Given the description of an element on the screen output the (x, y) to click on. 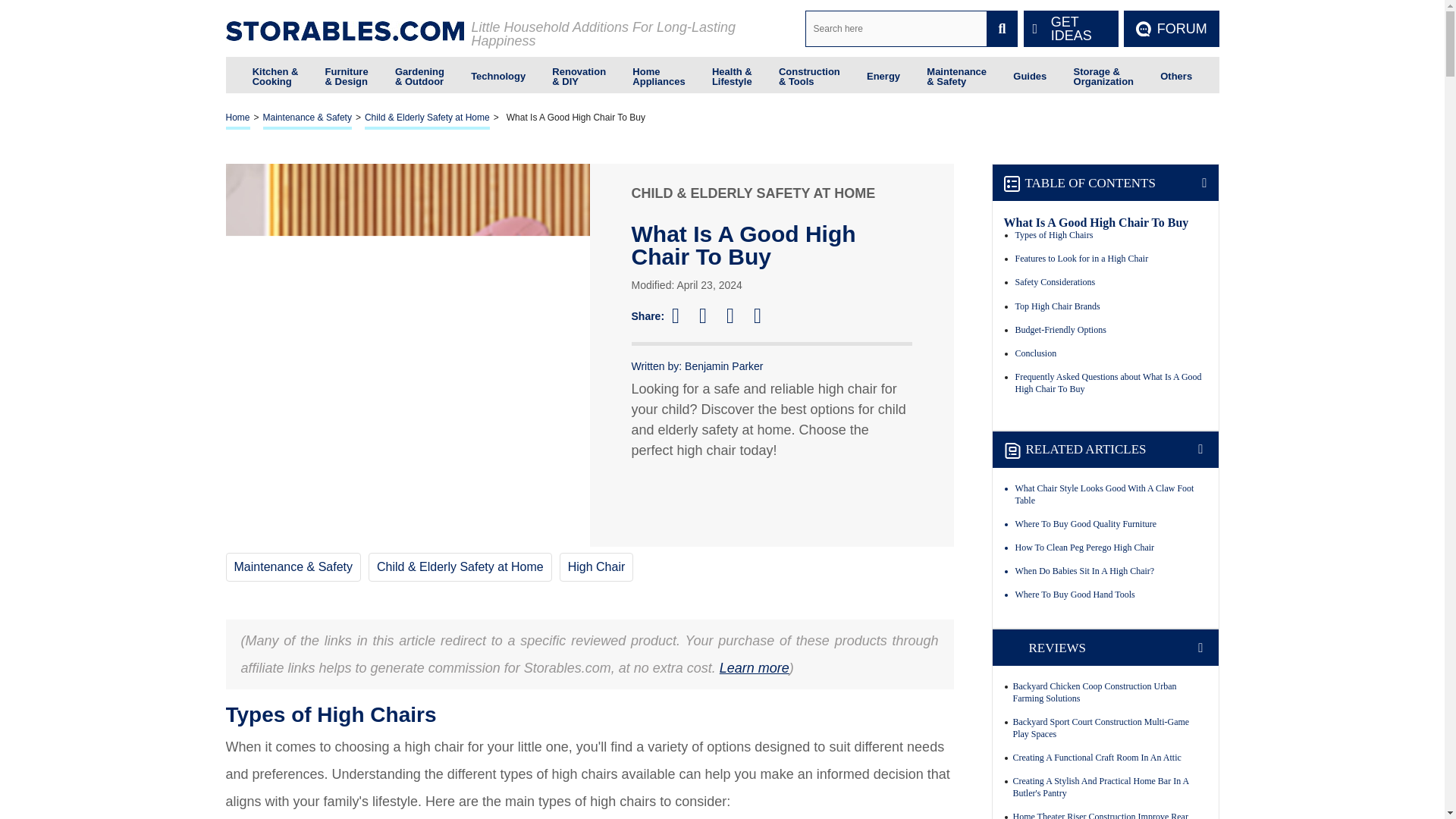
Share on Twitter (709, 315)
Technology (497, 74)
Share on Pinterest (737, 315)
Share on Facebook (682, 315)
FORUM (1171, 28)
Share on WhatsApp (764, 315)
GET IDEAS (1070, 28)
